Given the description of an element on the screen output the (x, y) to click on. 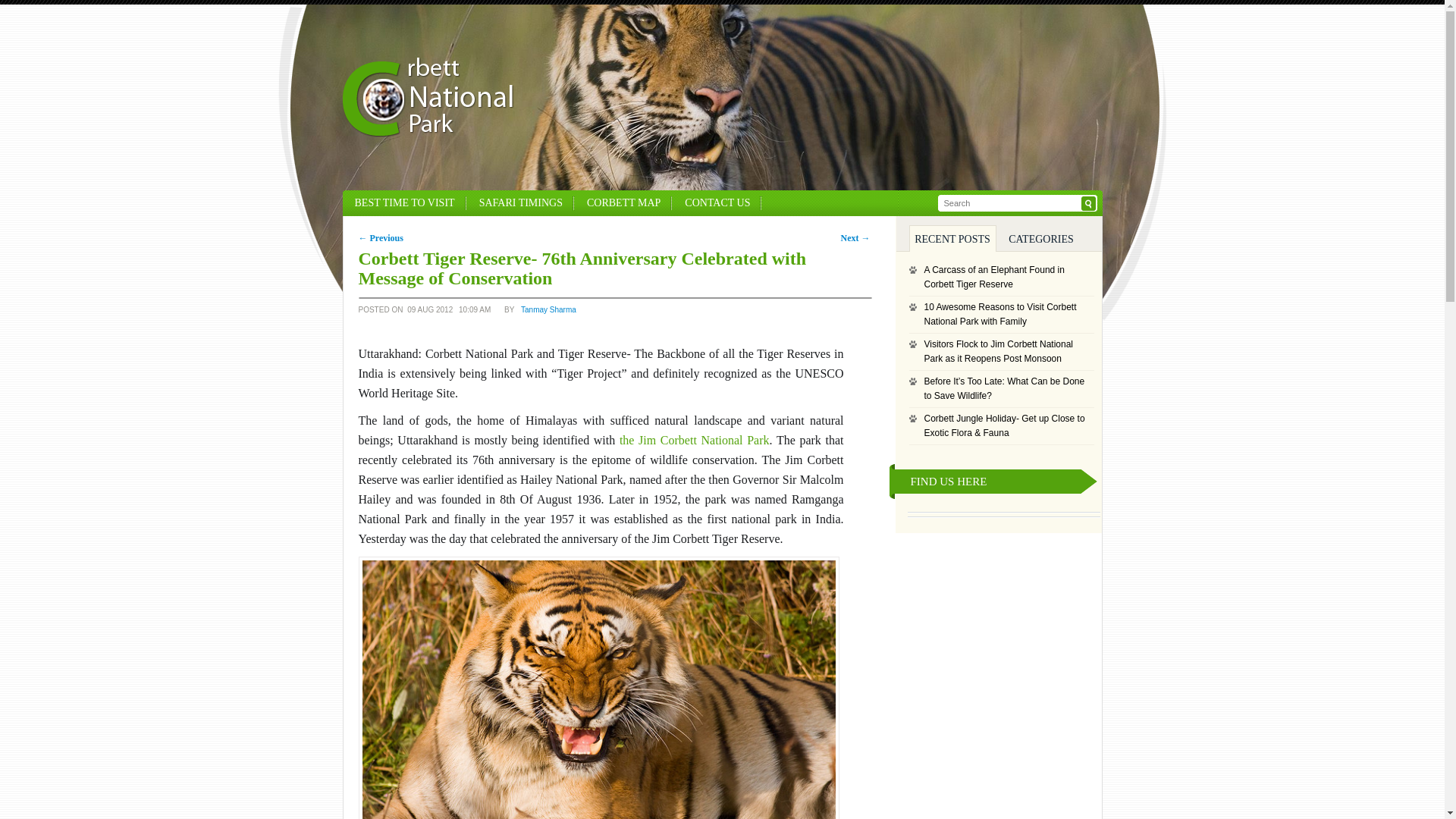
Posts by Tanmay Sharma (548, 313)
CONTACT US (716, 203)
CORBETT MAP (623, 203)
Search (1088, 203)
Skip to secondary content (433, 203)
Jim Corbett National Park Travel Guide Blog (427, 133)
SAFARI TIMINGS (521, 203)
Skip to primary content (425, 203)
the Jim Corbett National Park (695, 440)
Tanmay Sharma (548, 313)
